Given the description of an element on the screen output the (x, y) to click on. 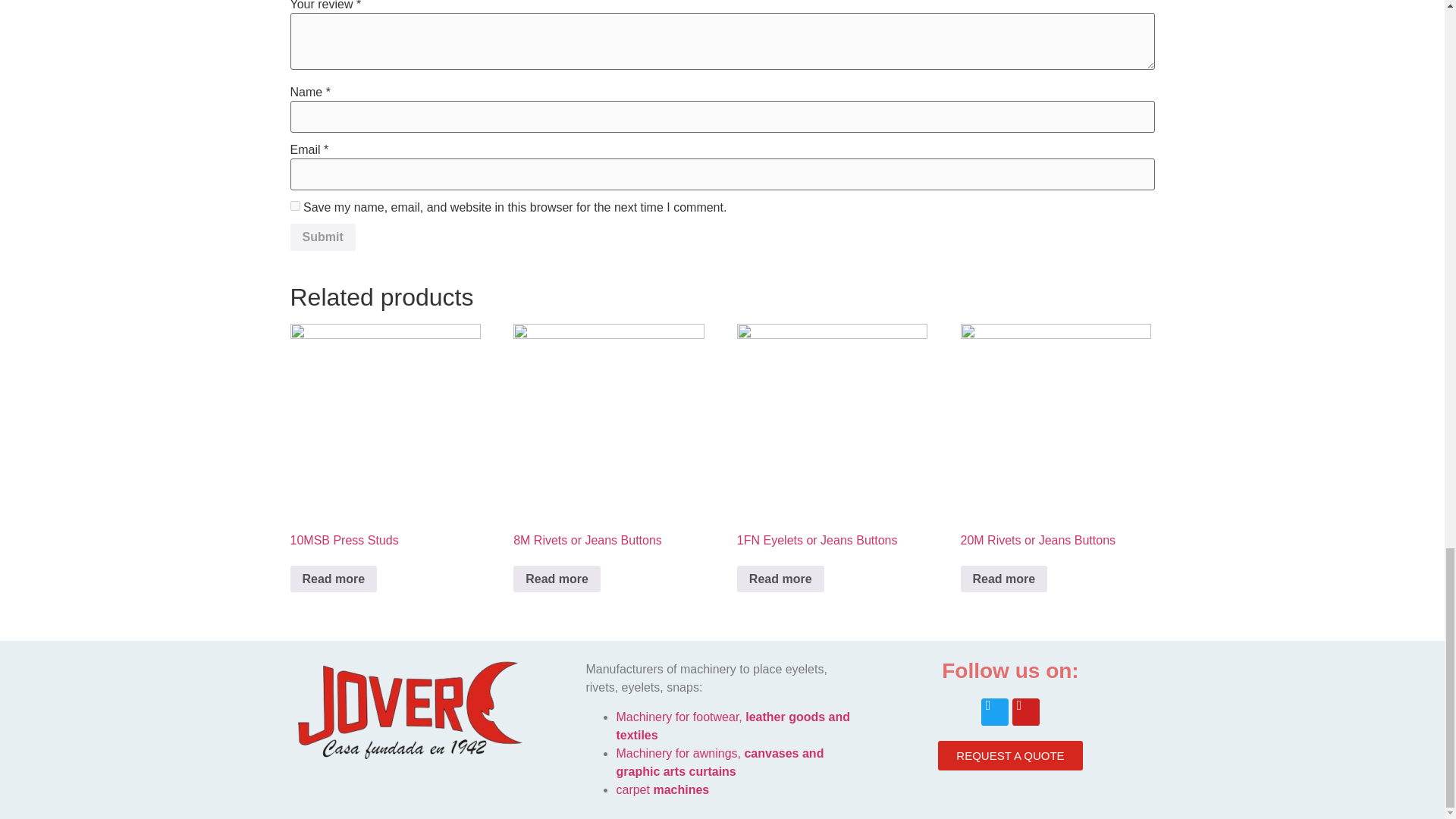
Submit (322, 236)
yes (294, 205)
